Given the description of an element on the screen output the (x, y) to click on. 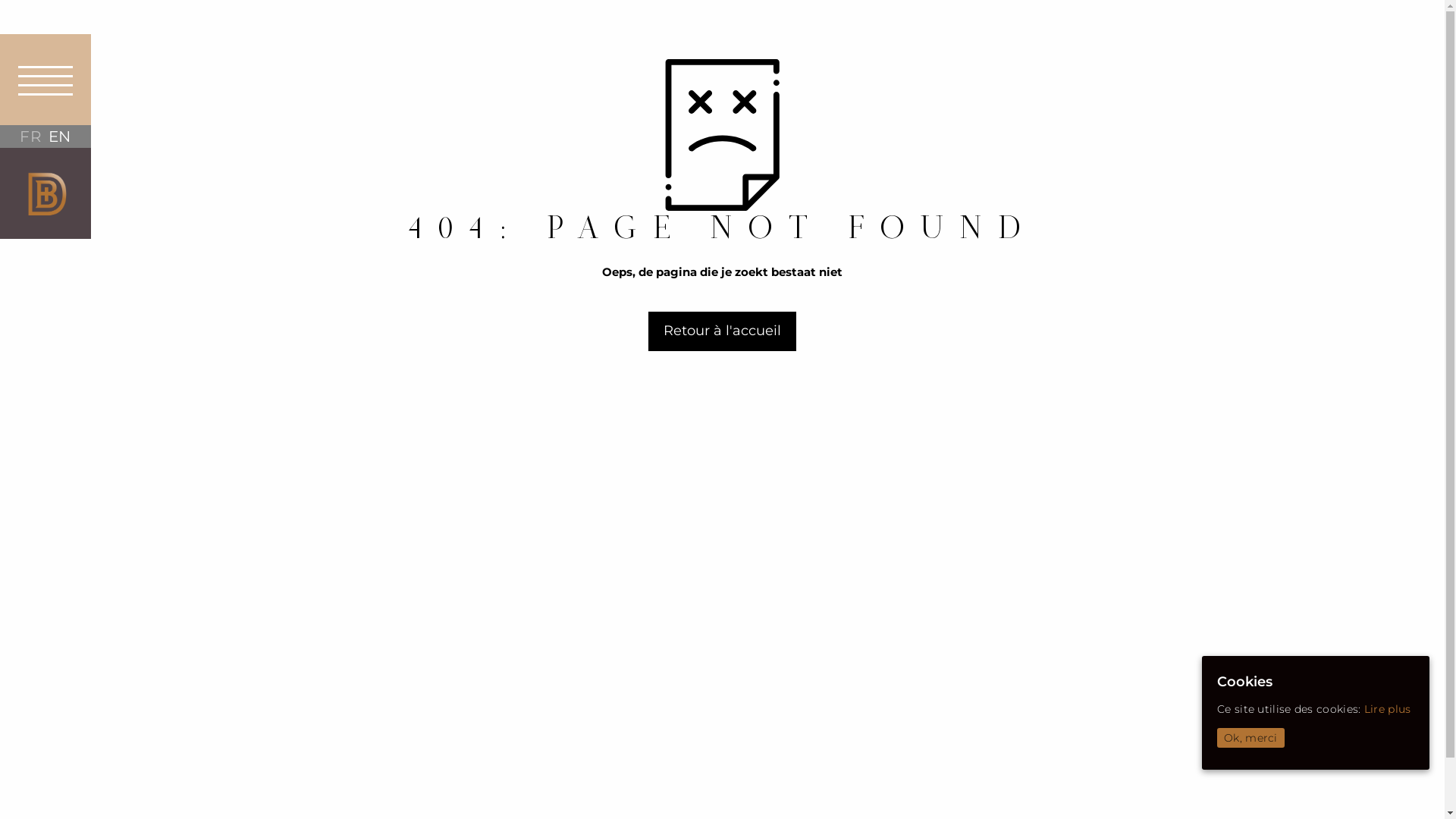
Artisans Verriers Element type: hover (45, 192)
EN Element type: text (59, 136)
FR Element type: text (29, 136)
Ok, merci Element type: text (1250, 737)
Lire plus Element type: text (1387, 708)
